Given the description of an element on the screen output the (x, y) to click on. 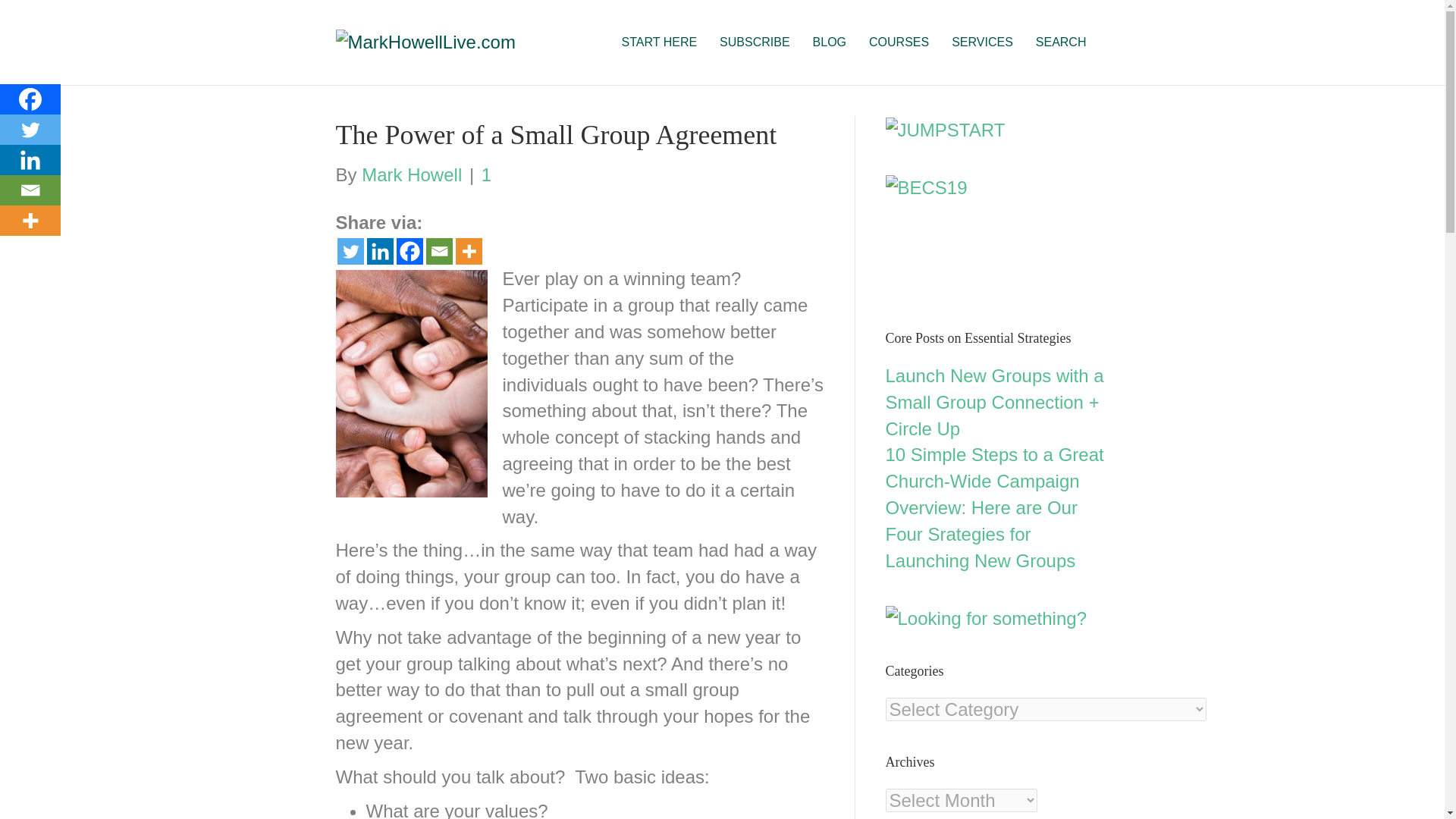
SUBSCRIBE (753, 42)
Linkedin (379, 251)
Twitter (349, 251)
Email (439, 251)
COURSES (898, 42)
START HERE (659, 42)
SERVICES (982, 42)
Mark Howell (411, 174)
Facebook (30, 99)
Linkedin (30, 159)
